Given the description of an element on the screen output the (x, y) to click on. 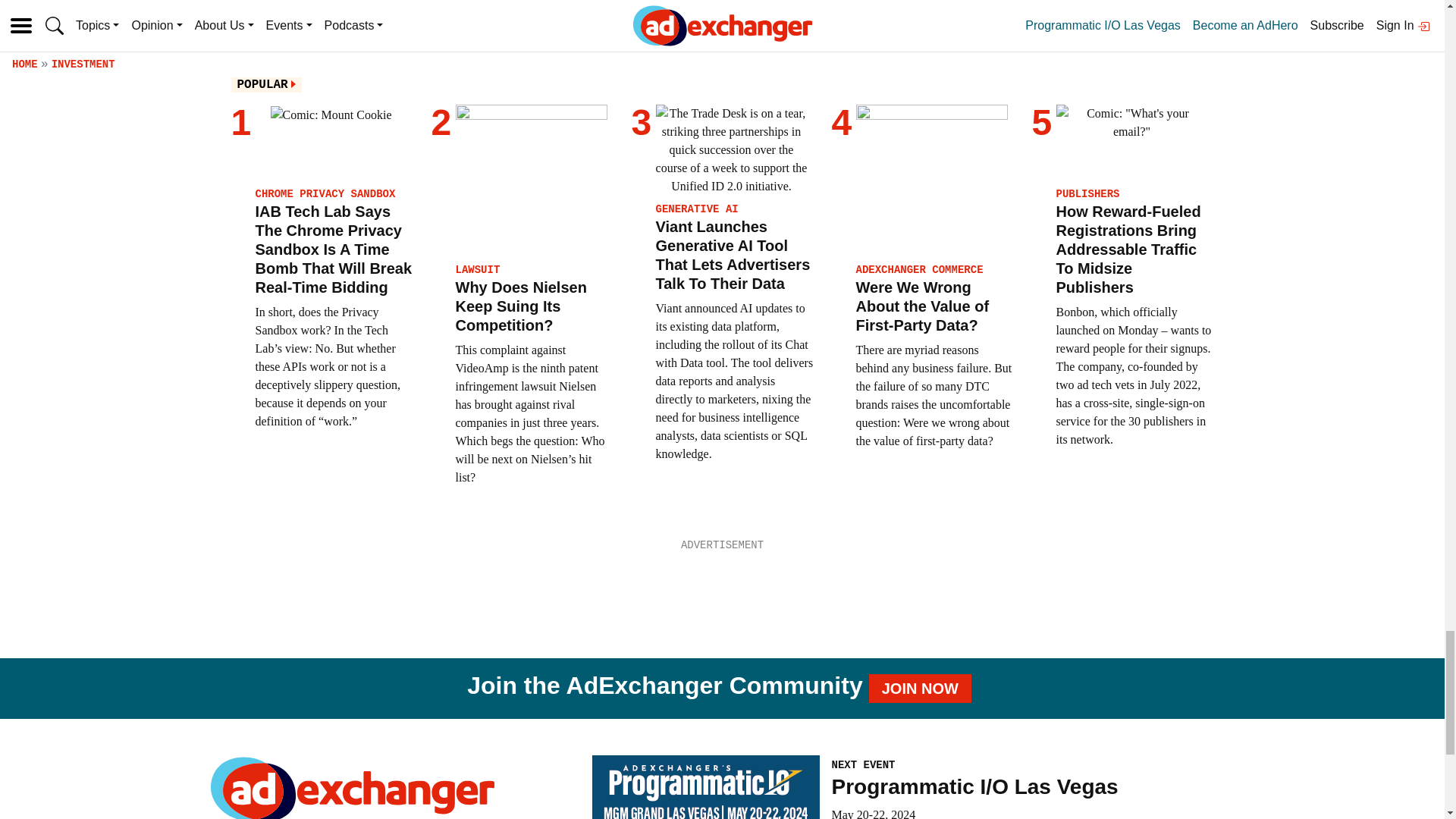
Subscribe to AdExchanger Newsletters (1080, 2)
